Given the description of an element on the screen output the (x, y) to click on. 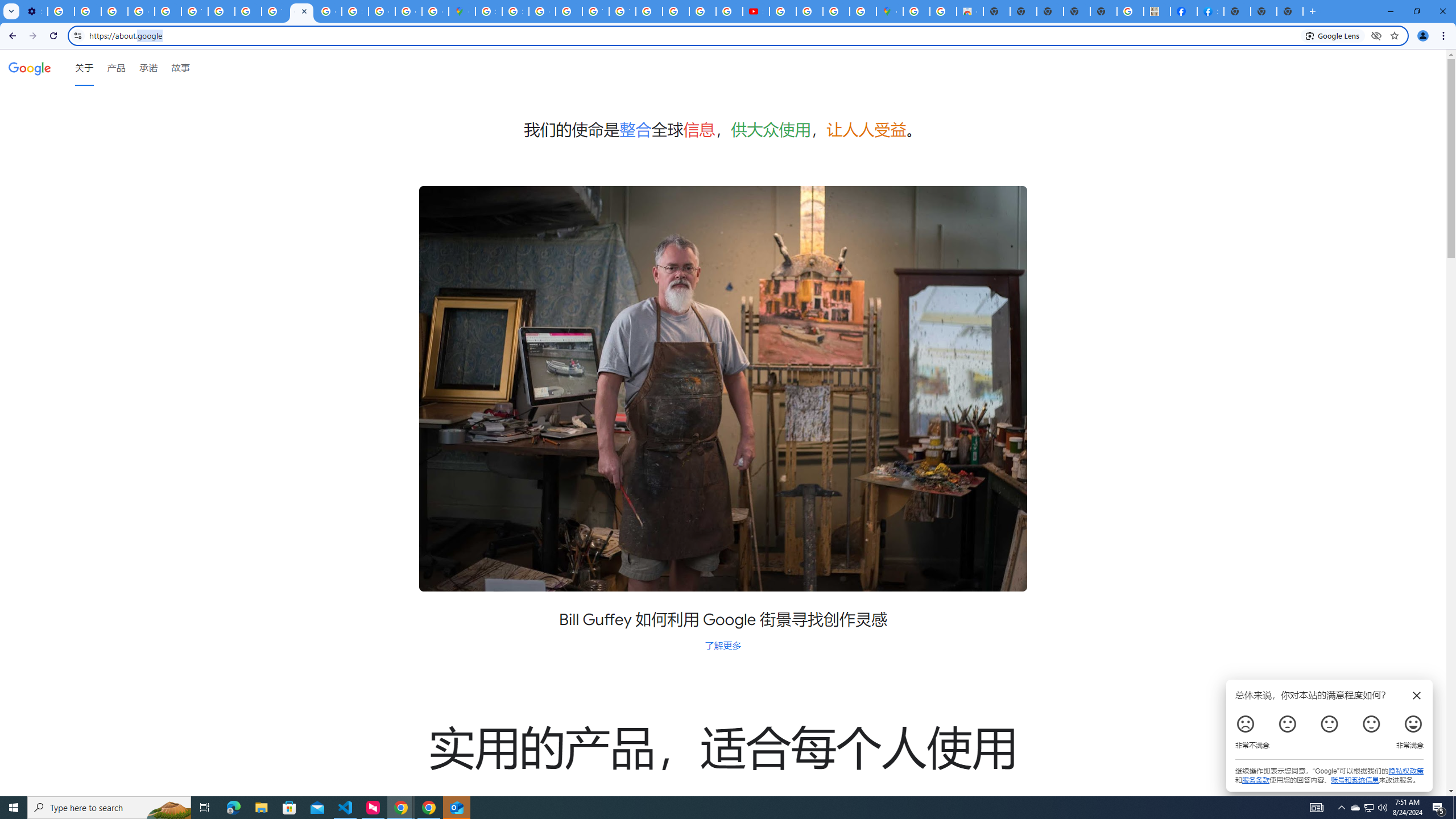
MILEY CYRUS. (1156, 11)
Subscriptions - YouTube (756, 11)
Google Maps (462, 11)
New Tab (1236, 11)
Privacy Help Center - Policies Help (702, 11)
Privacy Help Center - Policies Help (676, 11)
